Given the description of an element on the screen output the (x, y) to click on. 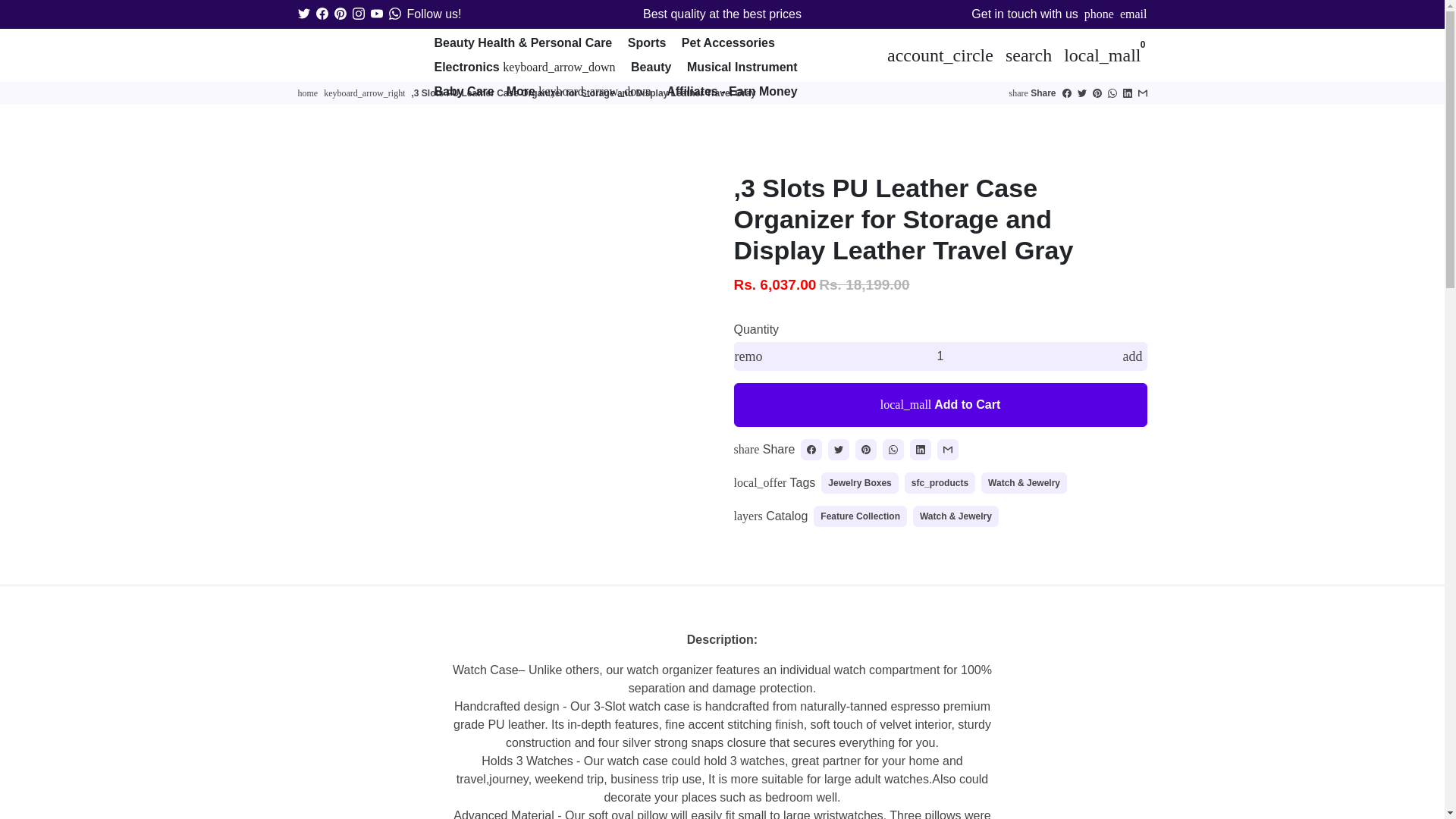
ikabestbuy on Youtube (375, 13)
ikabestbuy on Instagram (358, 13)
ikabestbuy on Twitter (302, 13)
1 (940, 356)
ikabestbuy on Pinterest (339, 13)
ikabestbuy on Facebook (321, 13)
